Given the description of an element on the screen output the (x, y) to click on. 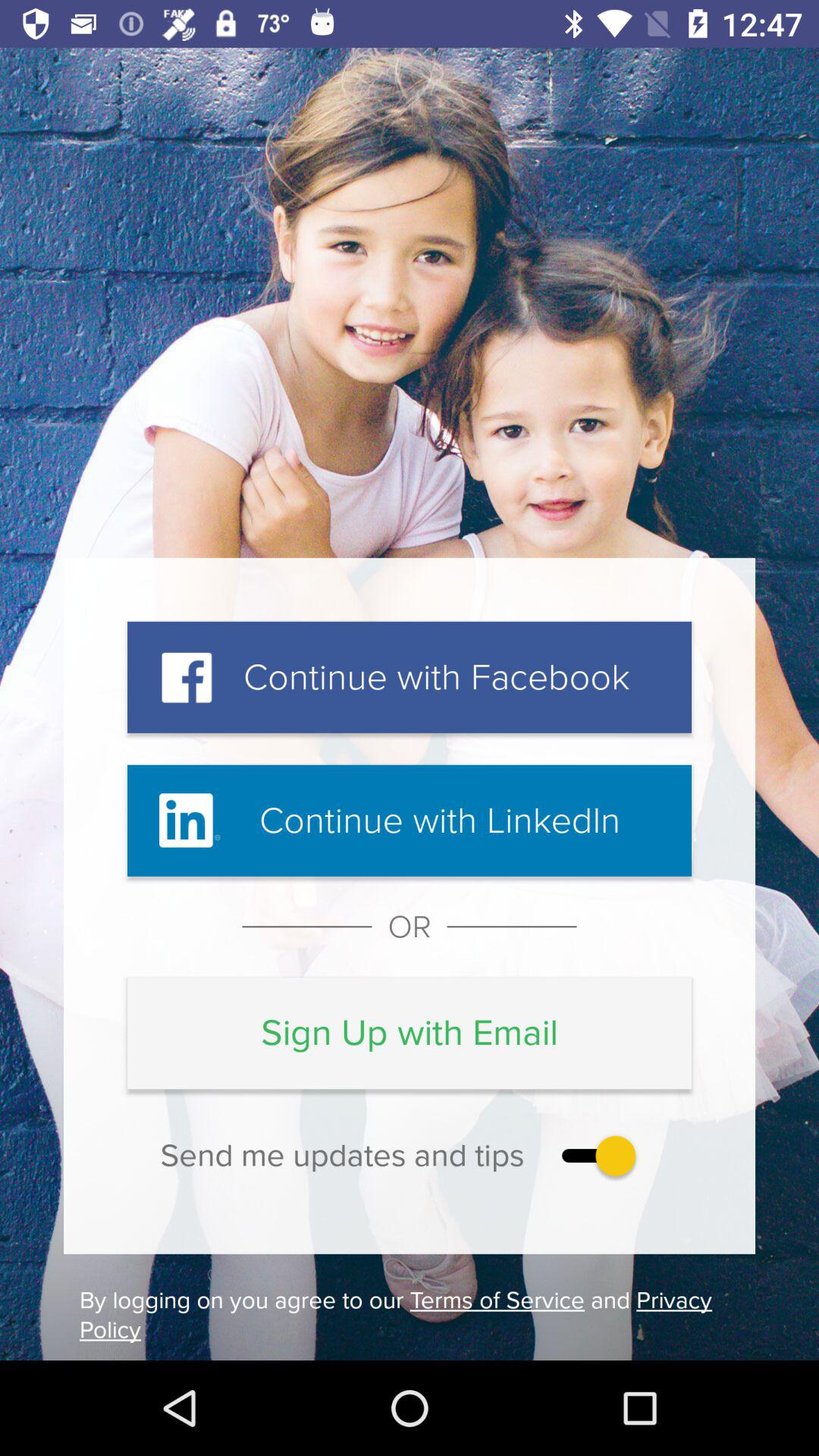
swipe to sign up with icon (409, 1033)
